Given the description of an element on the screen output the (x, y) to click on. 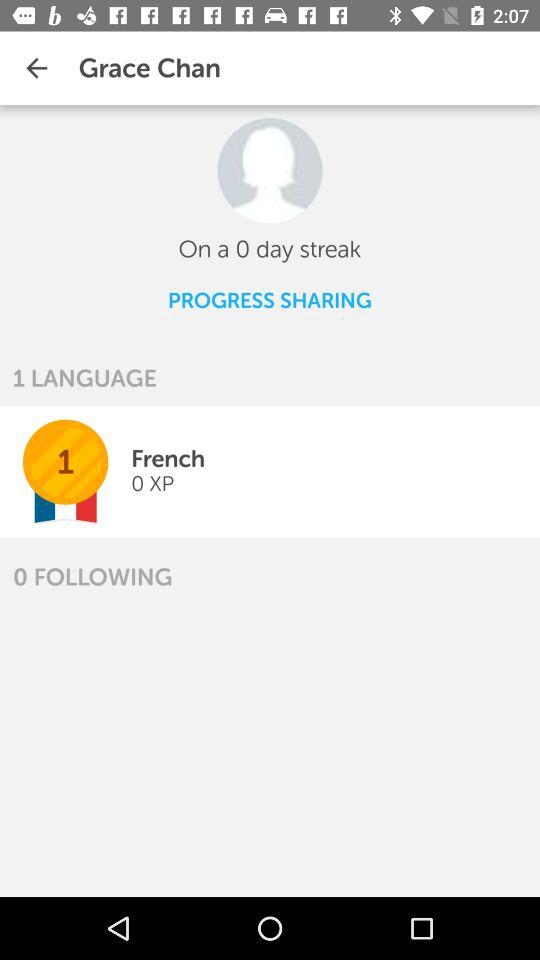
jump until 0 xp (152, 483)
